Given the description of an element on the screen output the (x, y) to click on. 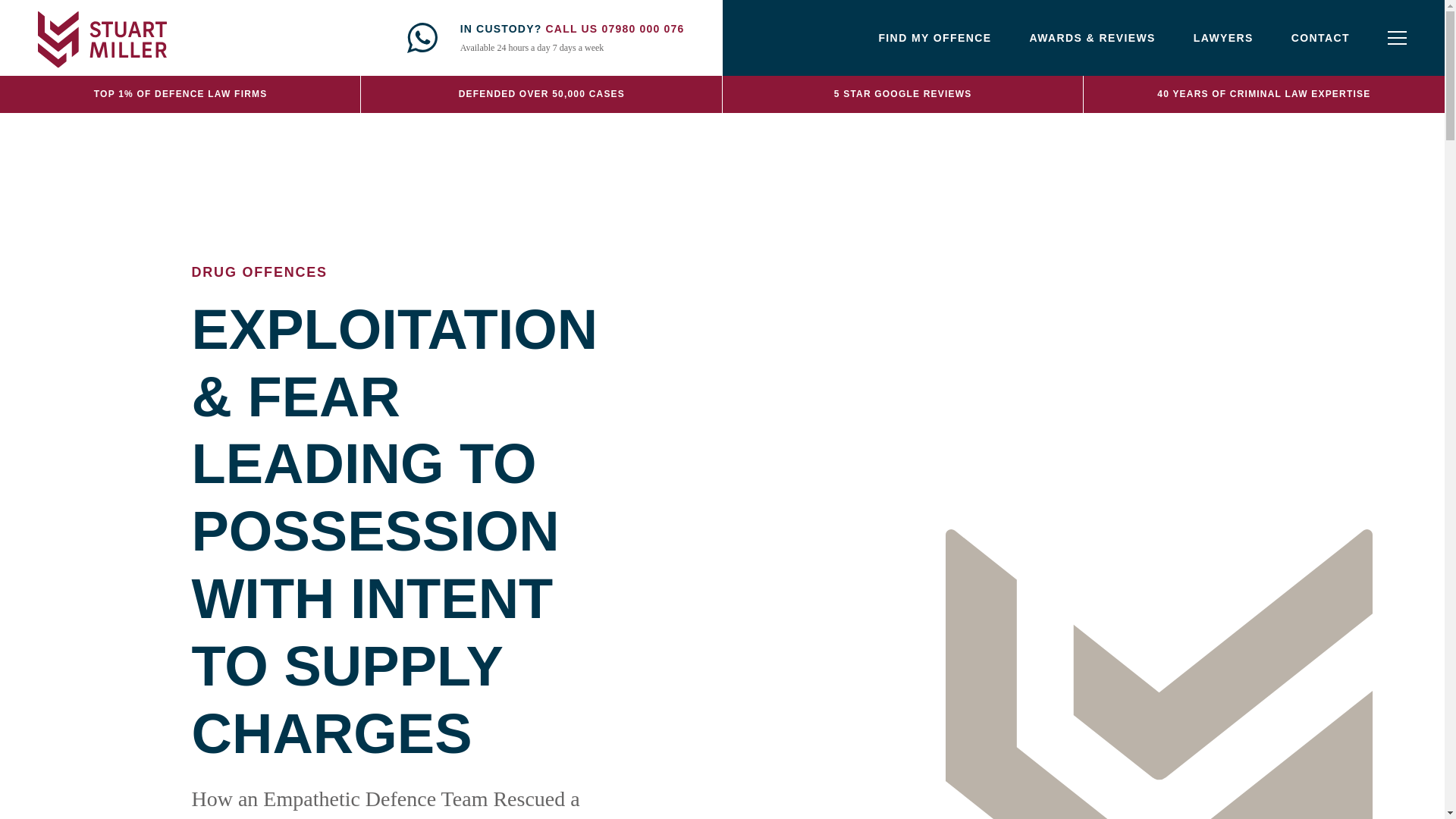
LAWYERS (1223, 37)
FIND MY OFFENCE (934, 37)
CONTACT (1320, 37)
